Given the description of an element on the screen output the (x, y) to click on. 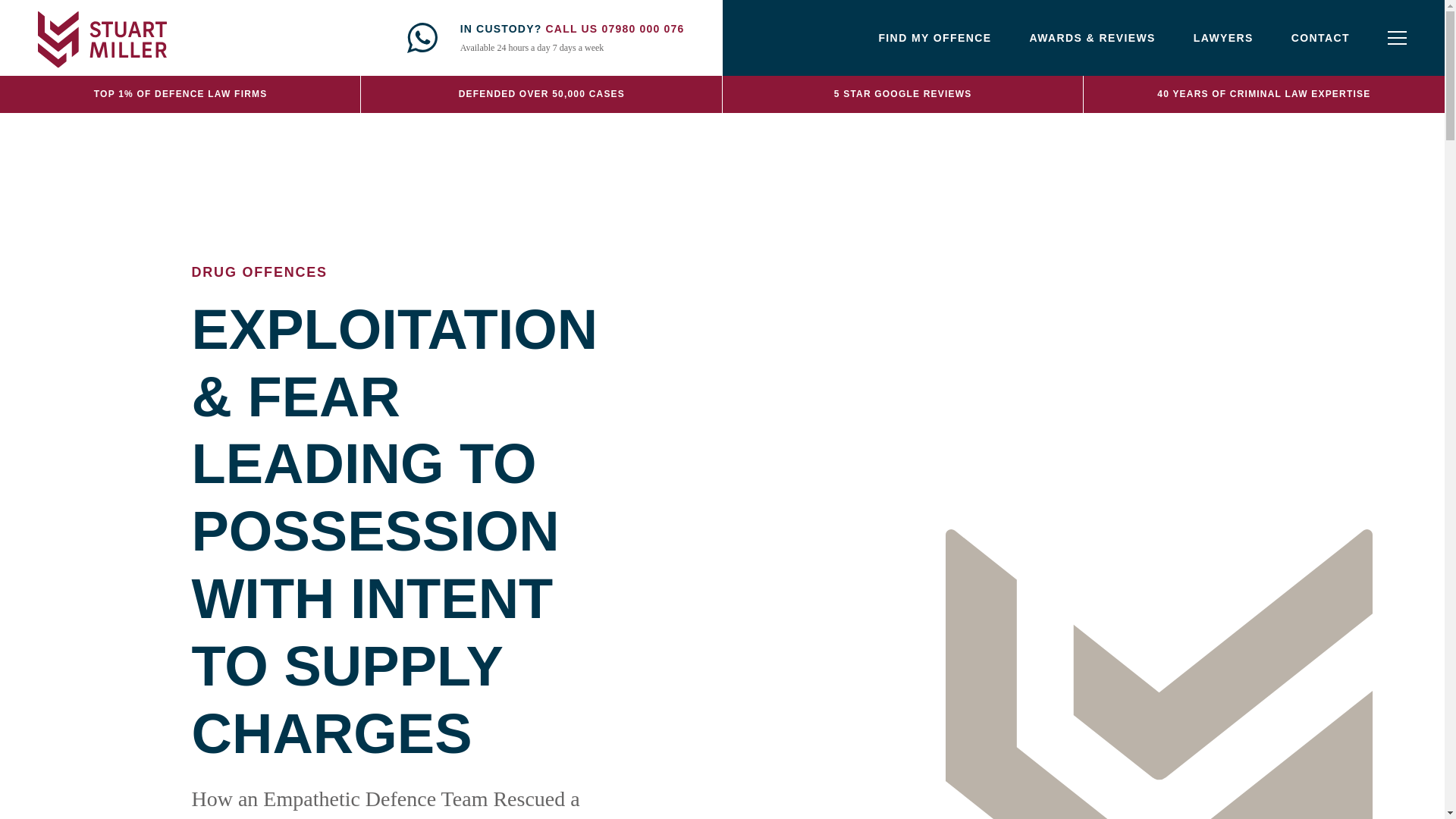
LAWYERS (1223, 37)
FIND MY OFFENCE (934, 37)
CONTACT (1320, 37)
